Given the description of an element on the screen output the (x, y) to click on. 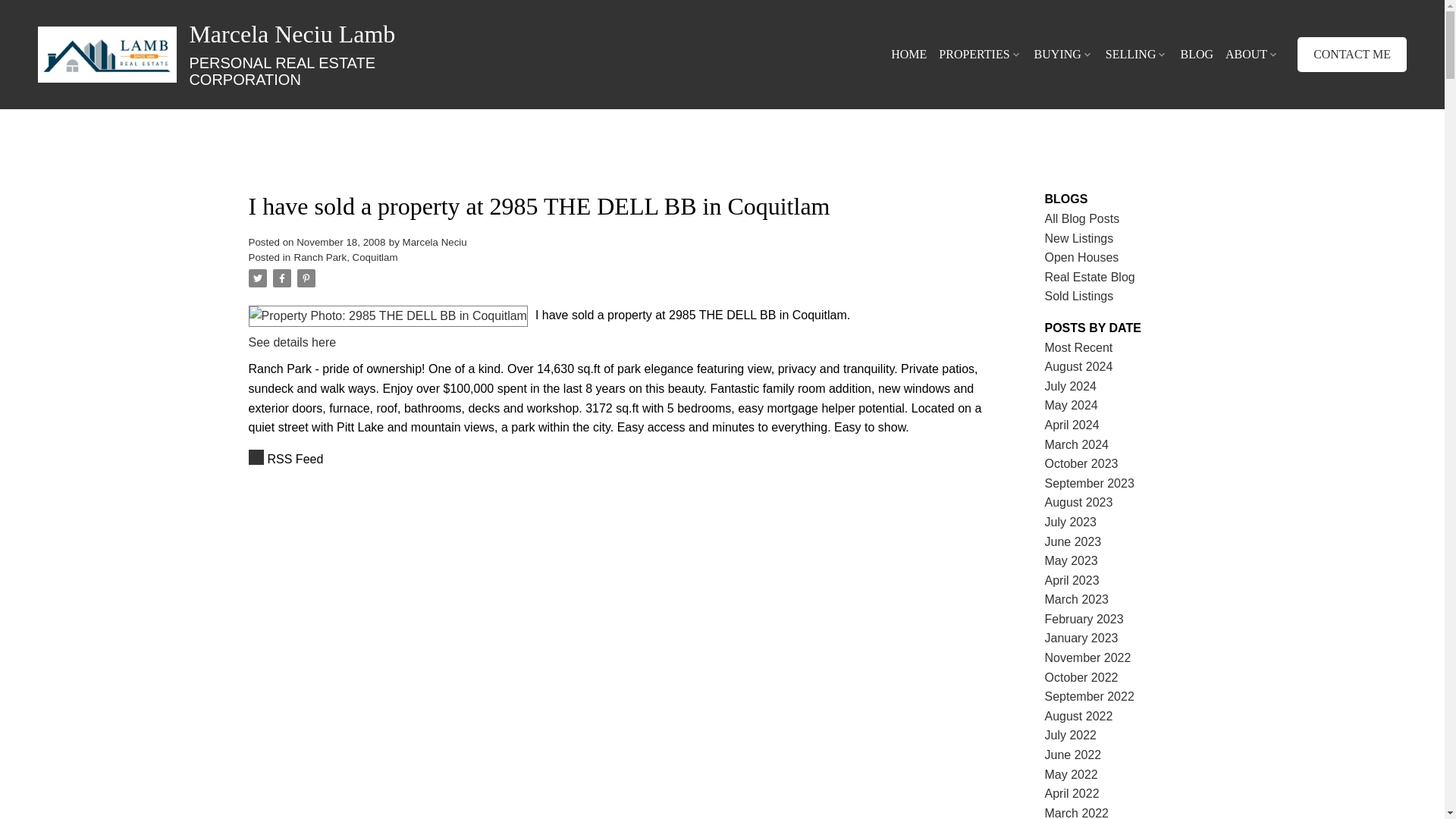
BLOG (1195, 54)
May 2024 (1071, 404)
RSS (255, 54)
July 2024 (616, 459)
April 2024 (1071, 386)
October 2023 (1072, 424)
Ranch Park, Coquitlam (1081, 463)
August 2024 (345, 256)
All Blog Posts (1079, 366)
